Given the description of an element on the screen output the (x, y) to click on. 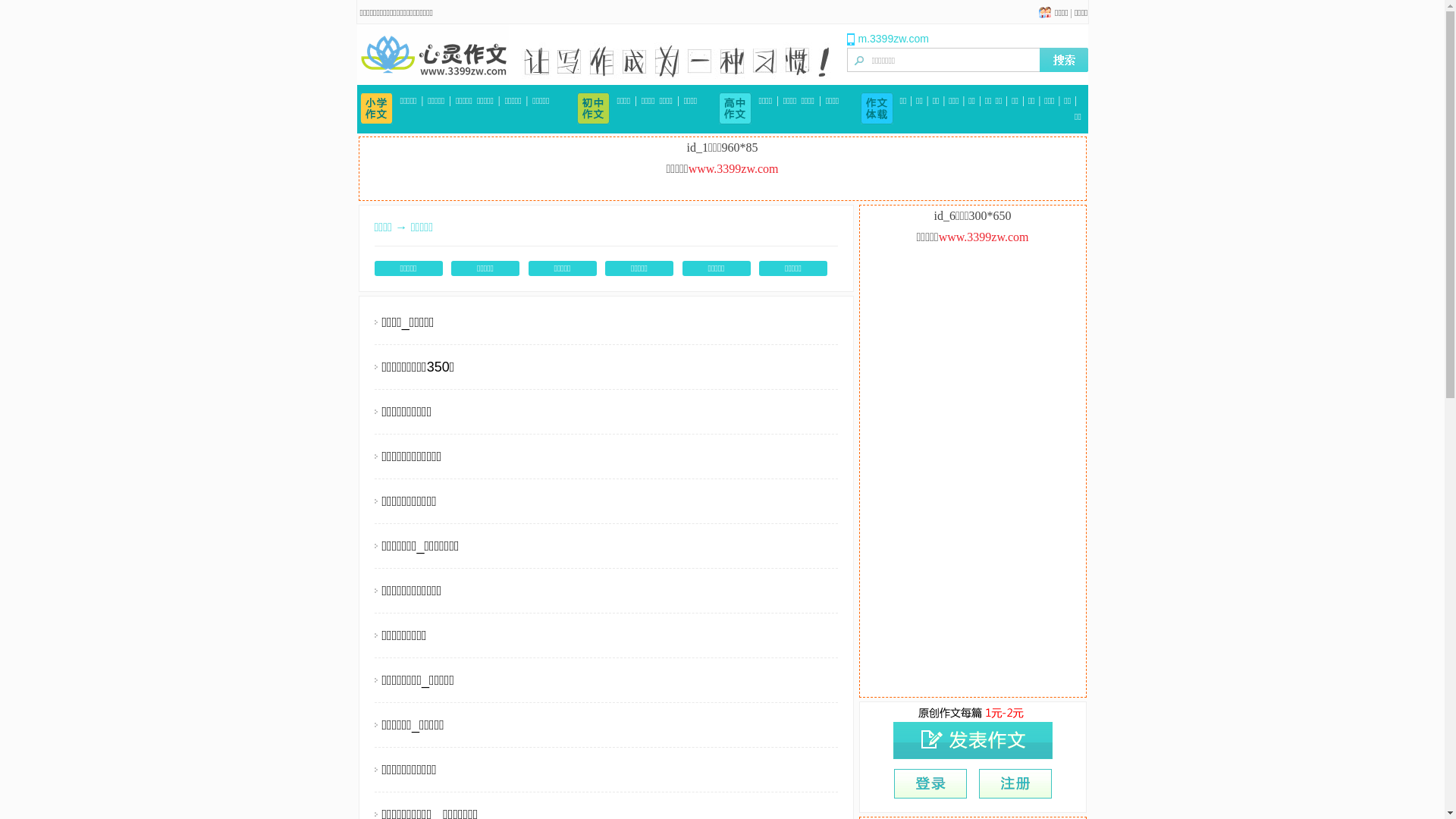
www.3399zw.com Element type: text (733, 168)
www.3399zw.com Element type: text (983, 236)
